Given the description of an element on the screen output the (x, y) to click on. 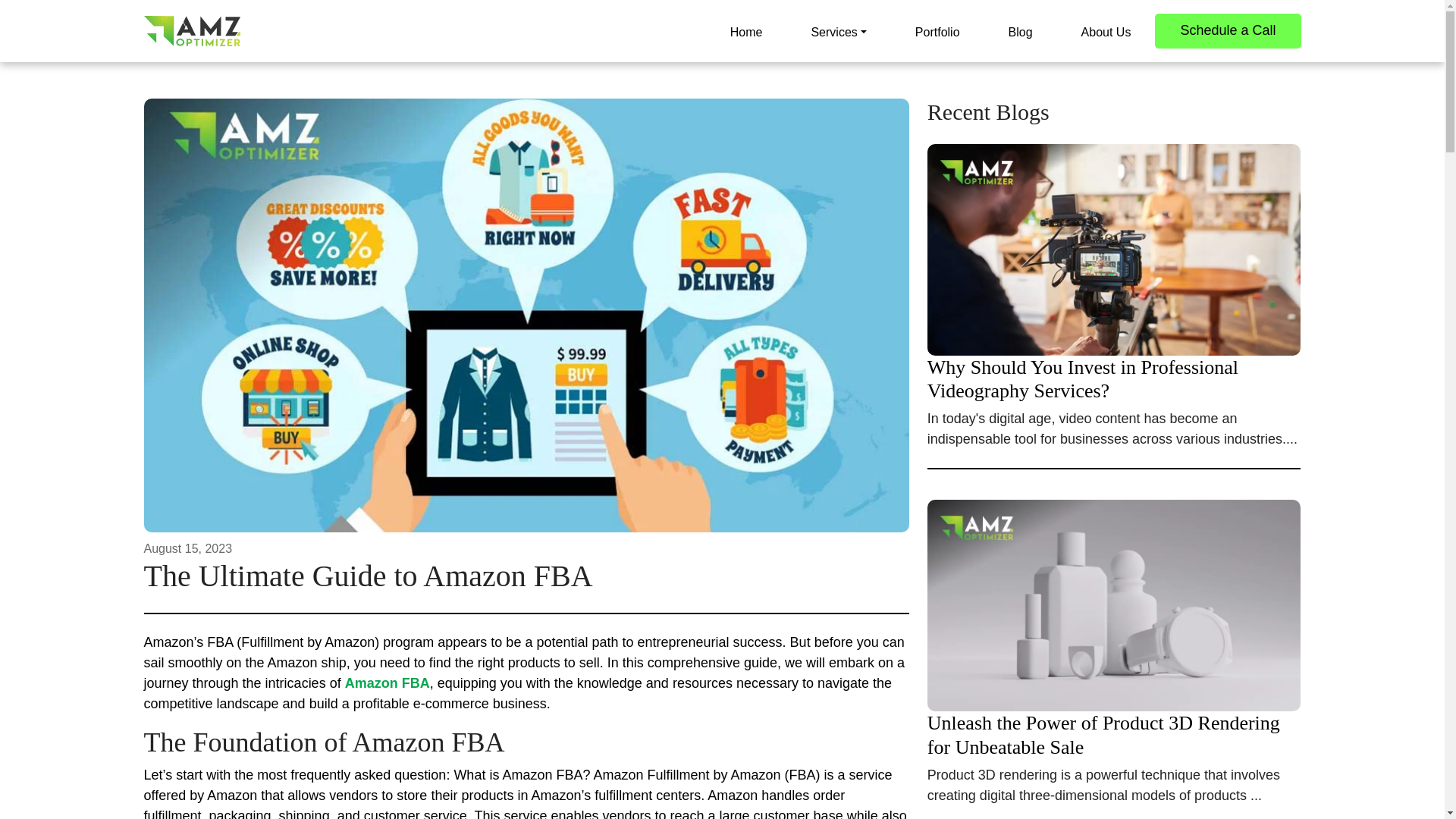
Services (837, 30)
Home (745, 30)
About Us (1105, 30)
Schedule a Call (1227, 30)
Blog (1020, 30)
Why Should You Invest in Professional Videography Services? (1114, 322)
Amazon FBA (387, 683)
Portfolio (937, 30)
